Given the description of an element on the screen output the (x, y) to click on. 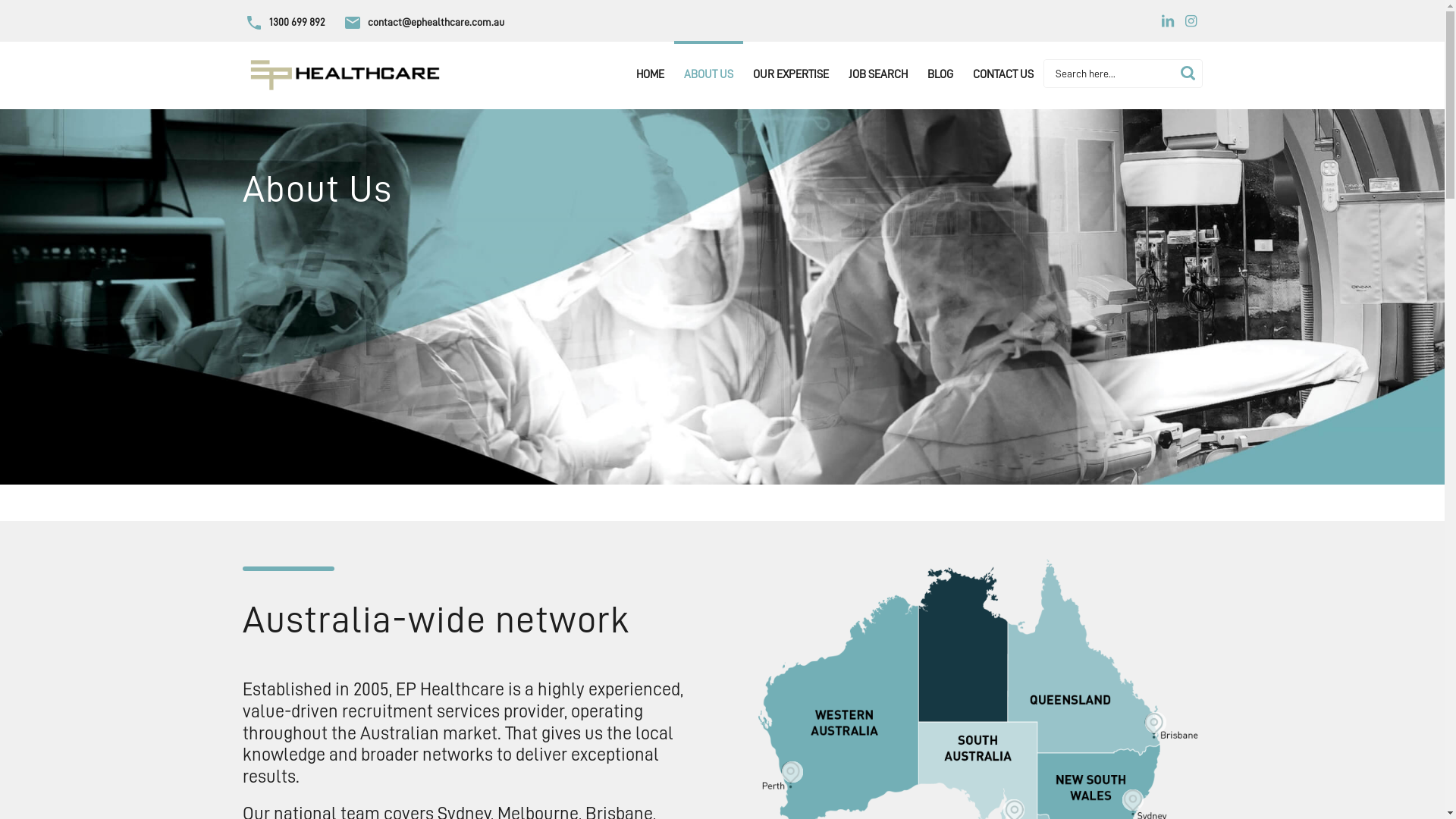
OUR EXPERTISE Element type: text (790, 74)
JOB SEARCH Element type: text (877, 74)
HOME Element type: text (650, 74)
CONTACT US Element type: text (1003, 74)
ABOUT US Element type: text (707, 74)
contact@ephealthcare.com.au Element type: text (422, 22)
BLOG Element type: text (940, 74)
Search Button Element type: text (1187, 73)
LinkedIn Element type: hover (1168, 20)
Instagram Element type: hover (1190, 20)
1300 699 892 Element type: text (283, 22)
